Given the description of an element on the screen output the (x, y) to click on. 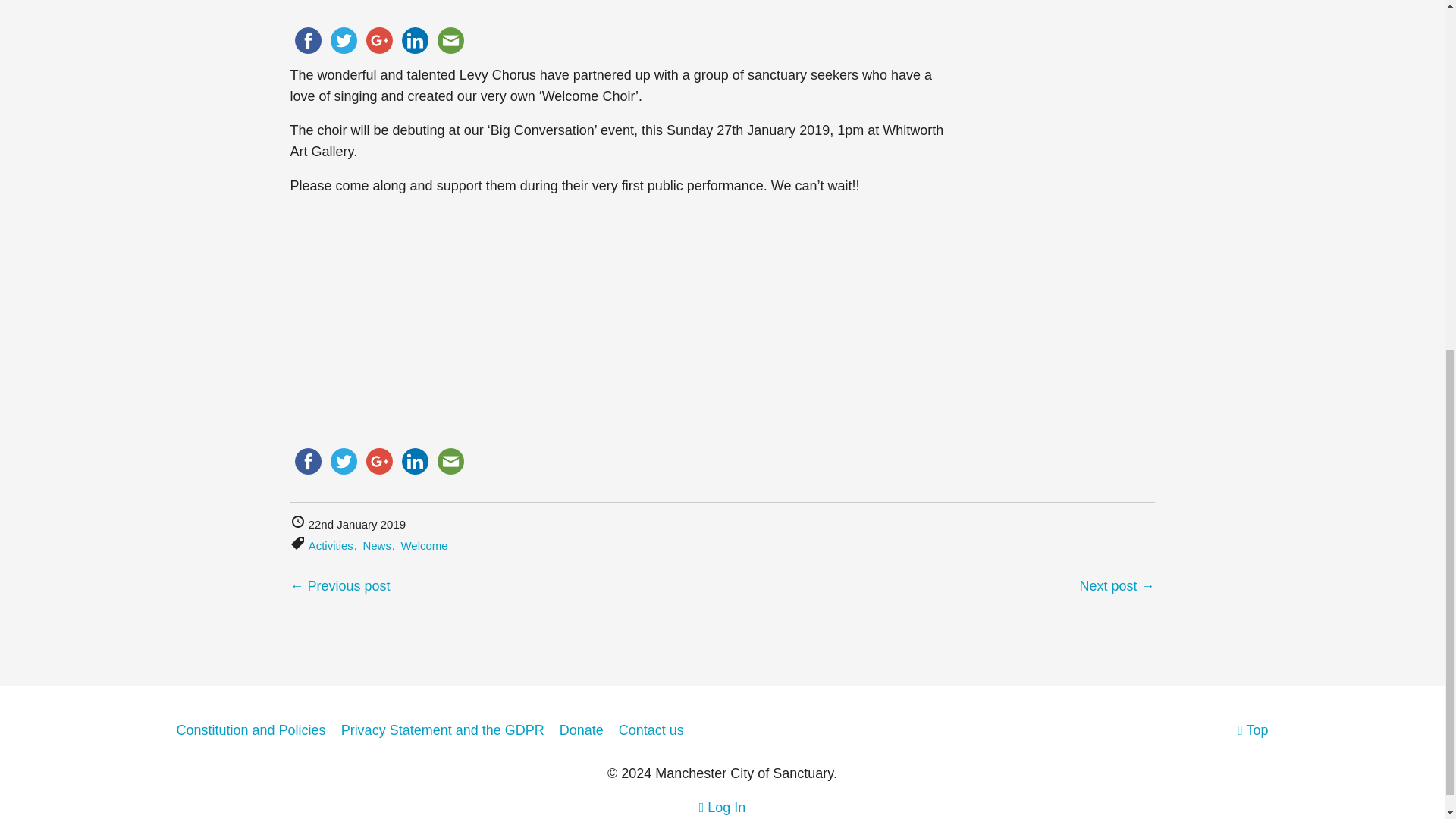
Welcome (423, 545)
News (376, 545)
facebook (306, 40)
linkedin (414, 40)
google (378, 40)
twitter (343, 40)
Top (1252, 729)
Activities (330, 545)
email (449, 40)
